Given the description of an element on the screen output the (x, y) to click on. 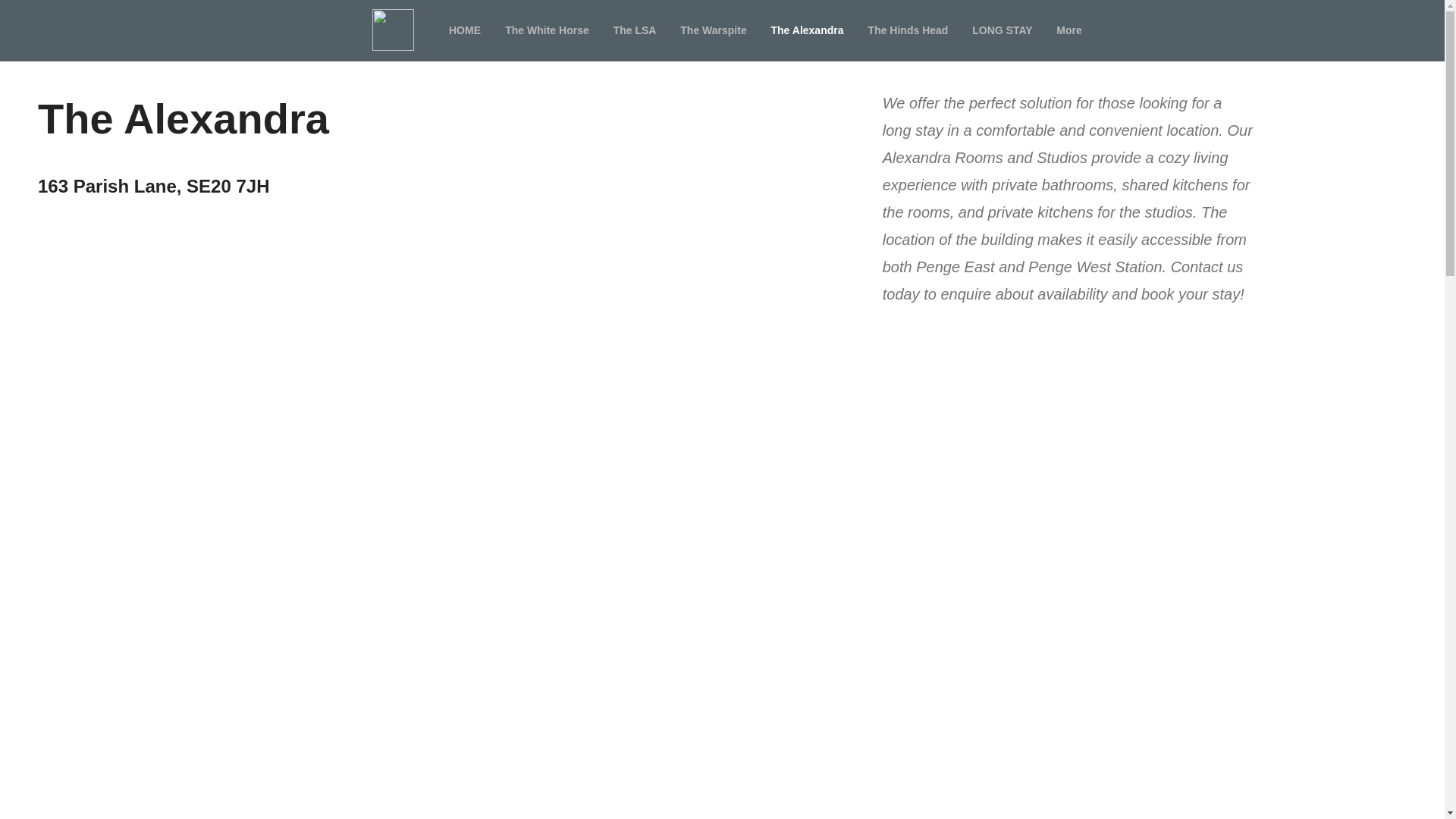
The White Horse (546, 29)
The Hinds Head (907, 29)
HOME (464, 29)
LONG STAY (1001, 29)
The LSA (633, 29)
The Warspite (713, 29)
The Alexandra (807, 29)
